Given the description of an element on the screen output the (x, y) to click on. 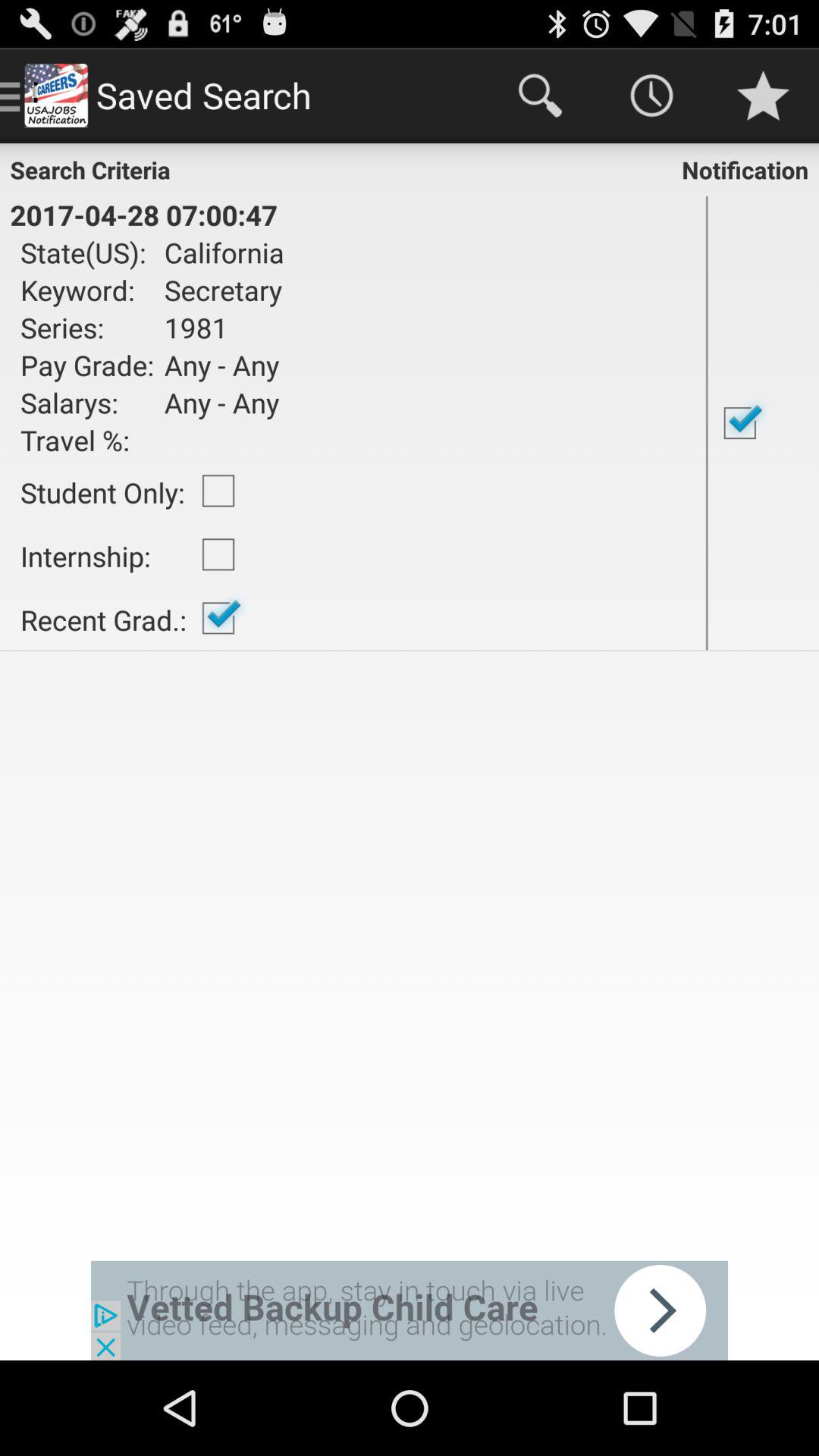
turn off the app below the notification icon (763, 423)
